Given the description of an element on the screen output the (x, y) to click on. 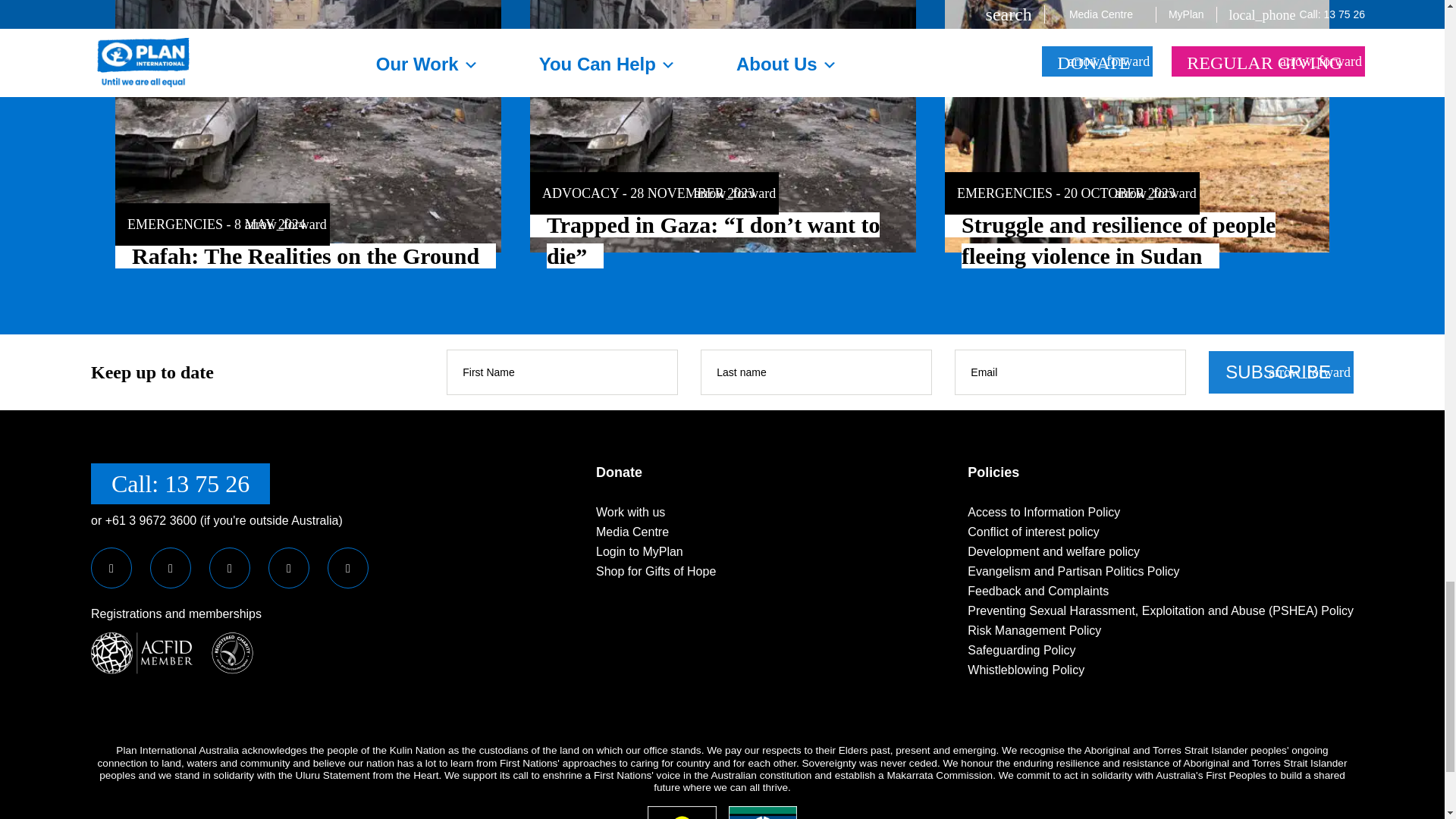
Rafah: The Realities on the Ground (307, 126)
Subscribe (1281, 372)
